Given the description of an element on the screen output the (x, y) to click on. 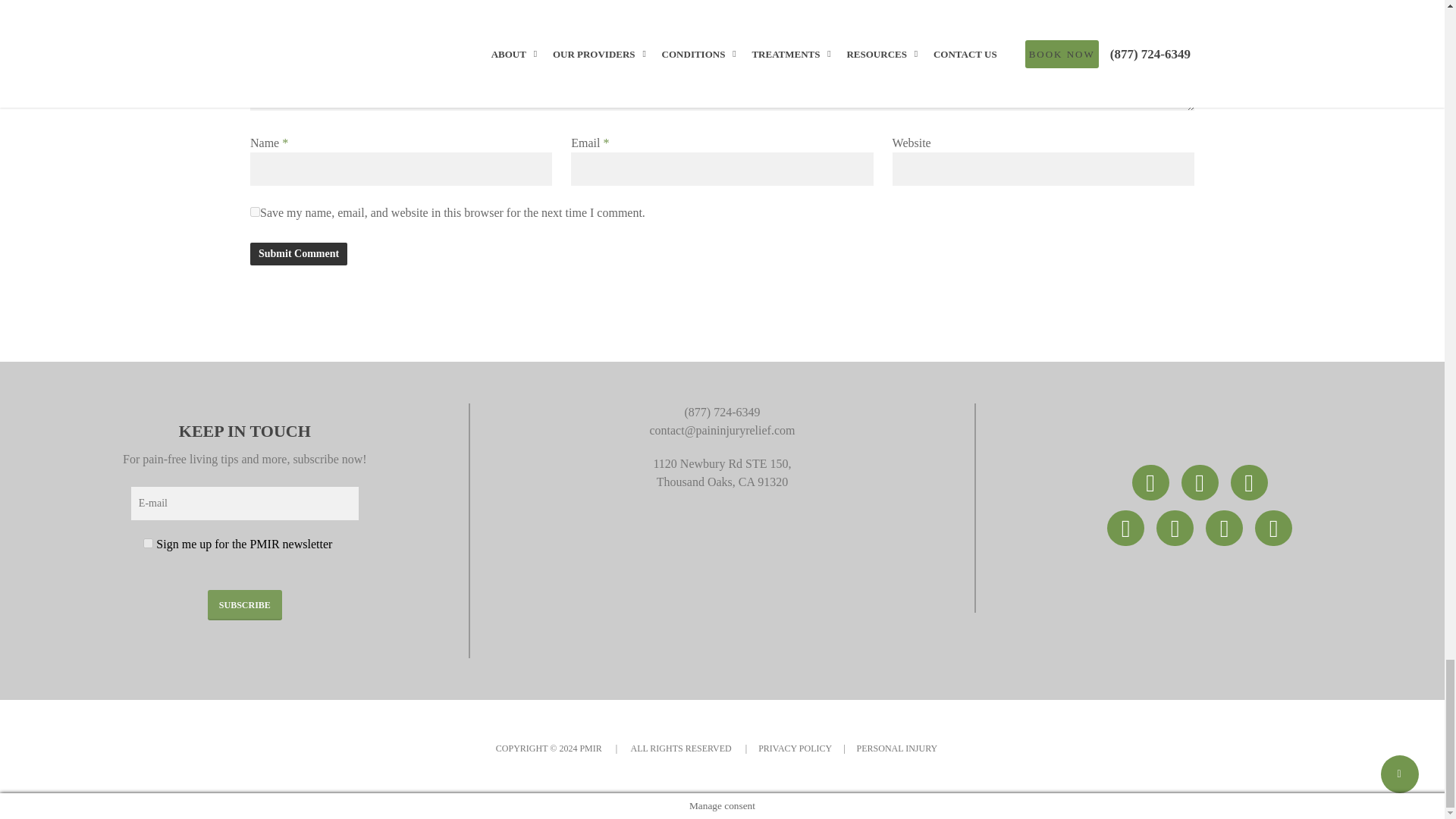
yes (255, 212)
Submit Comment (298, 253)
Sign me up for the PMIR newsletter (147, 542)
SUBSCRIBE (245, 604)
